Given the description of an element on the screen output the (x, y) to click on. 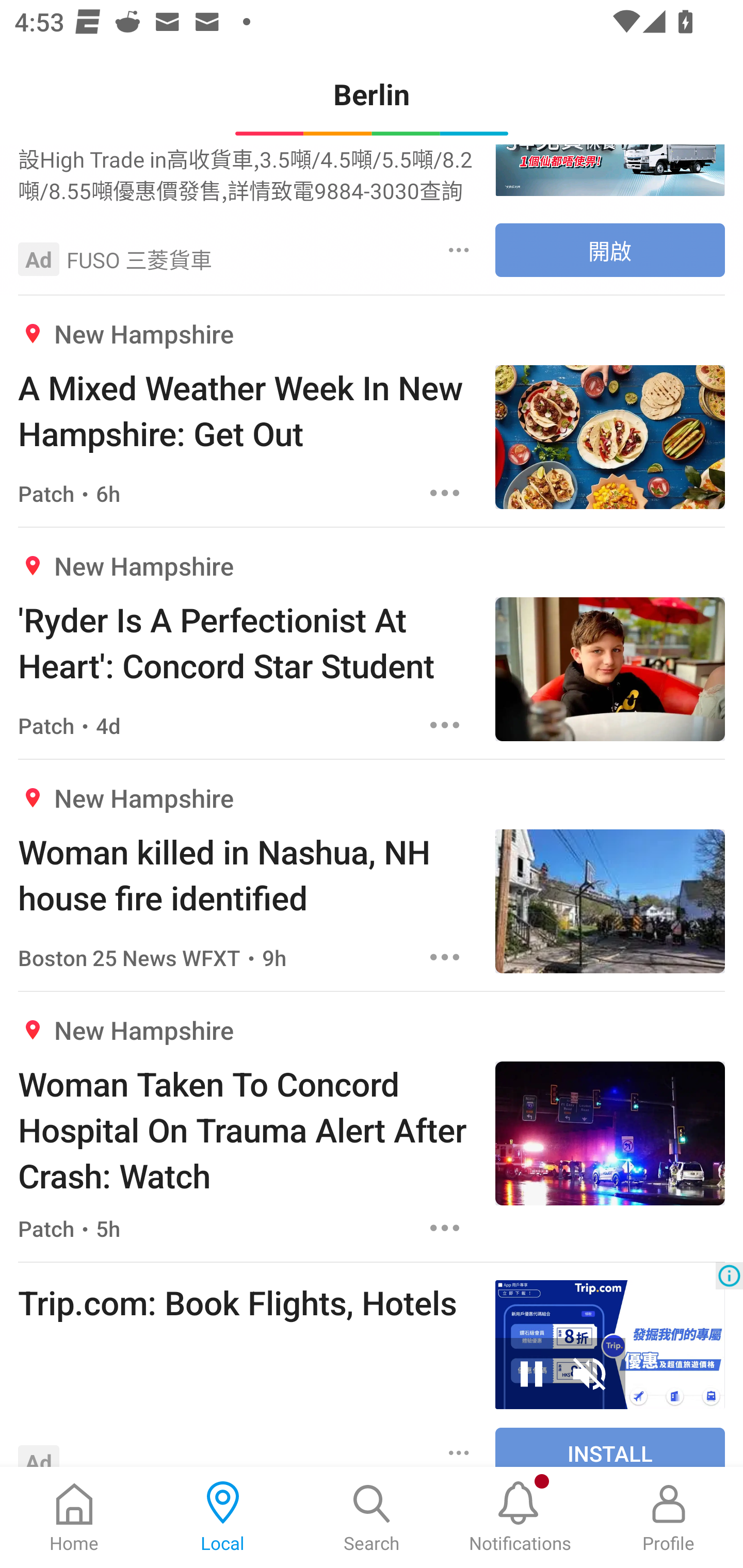
開啟 (610, 249)
Options (459, 250)
FUSO 三菱貨車 (138, 258)
Options (444, 492)
Options (444, 725)
Options (444, 957)
Options (444, 1227)
Ad Choices Icon (729, 1275)
Trip.com: Book Flights, Hotels (247, 1301)
Options (459, 1450)
Home (74, 1517)
Search (371, 1517)
Notifications, New notification Notifications (519, 1517)
Profile (668, 1517)
